Given the description of an element on the screen output the (x, y) to click on. 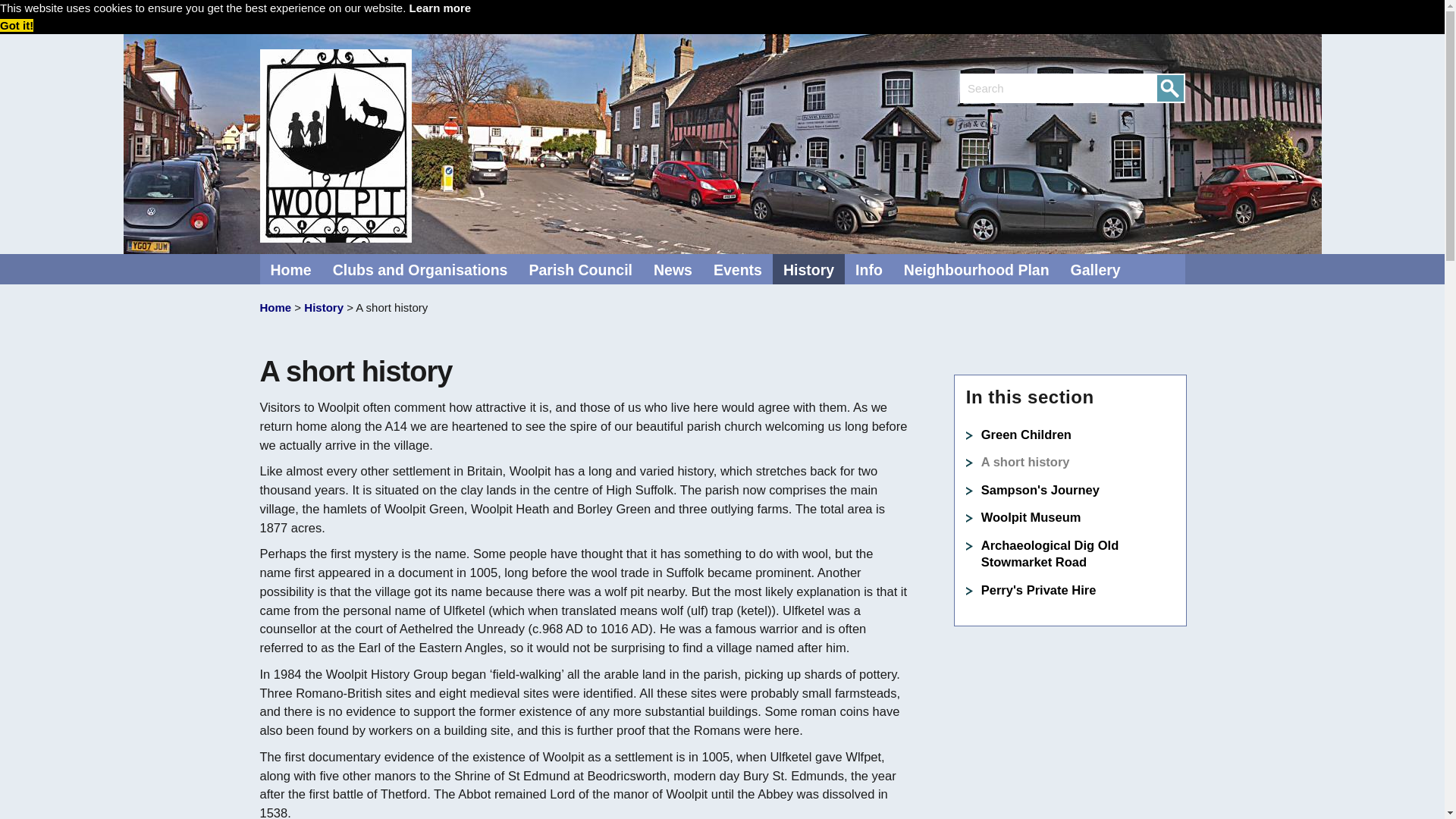
Go (1168, 92)
Archaeological Dig Old Stowmarket Road (1050, 553)
Neighbourhood Plan (976, 268)
Home (290, 268)
Clubs and Organisations (419, 268)
Green Children (1026, 434)
History (323, 307)
Clubs and Organisations (419, 268)
Events (738, 268)
News (673, 268)
Learn more (439, 7)
Home (290, 268)
News (673, 268)
A short history (1025, 461)
